Given the description of an element on the screen output the (x, y) to click on. 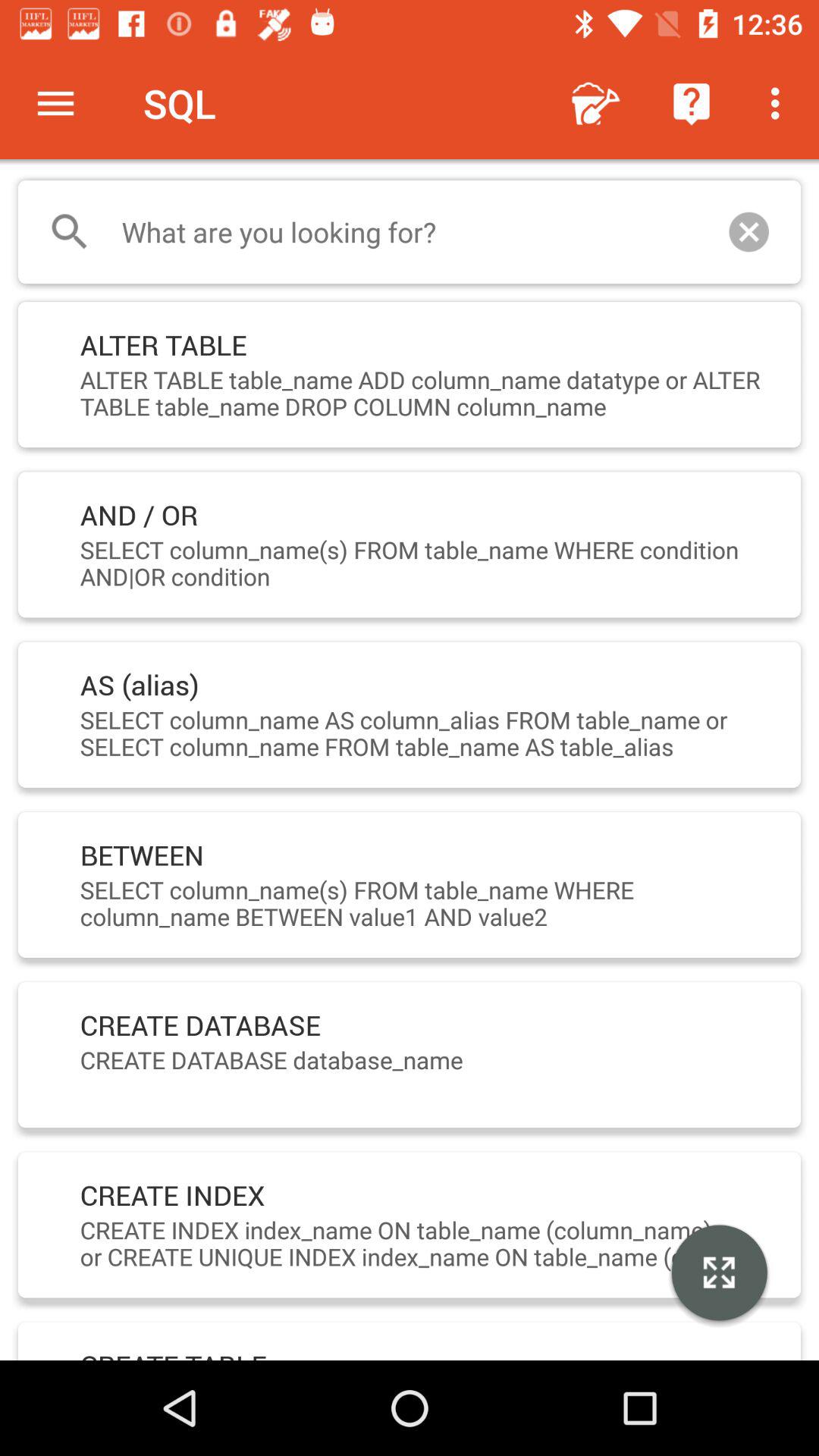
press the item next to create index (719, 1274)
